Given the description of an element on the screen output the (x, y) to click on. 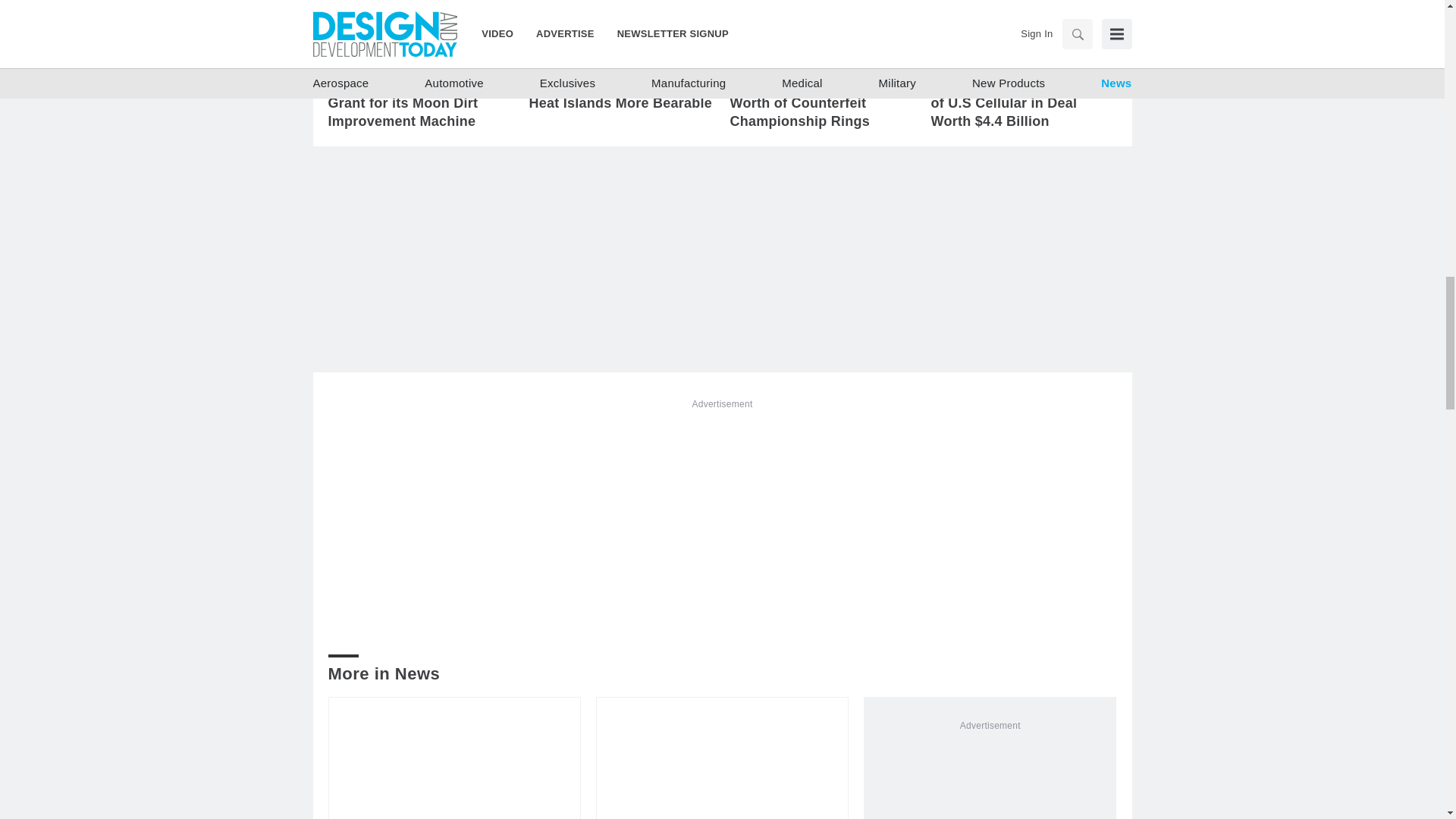
News (957, 59)
News (555, 59)
News (352, 59)
News (754, 59)
